Given the description of an element on the screen output the (x, y) to click on. 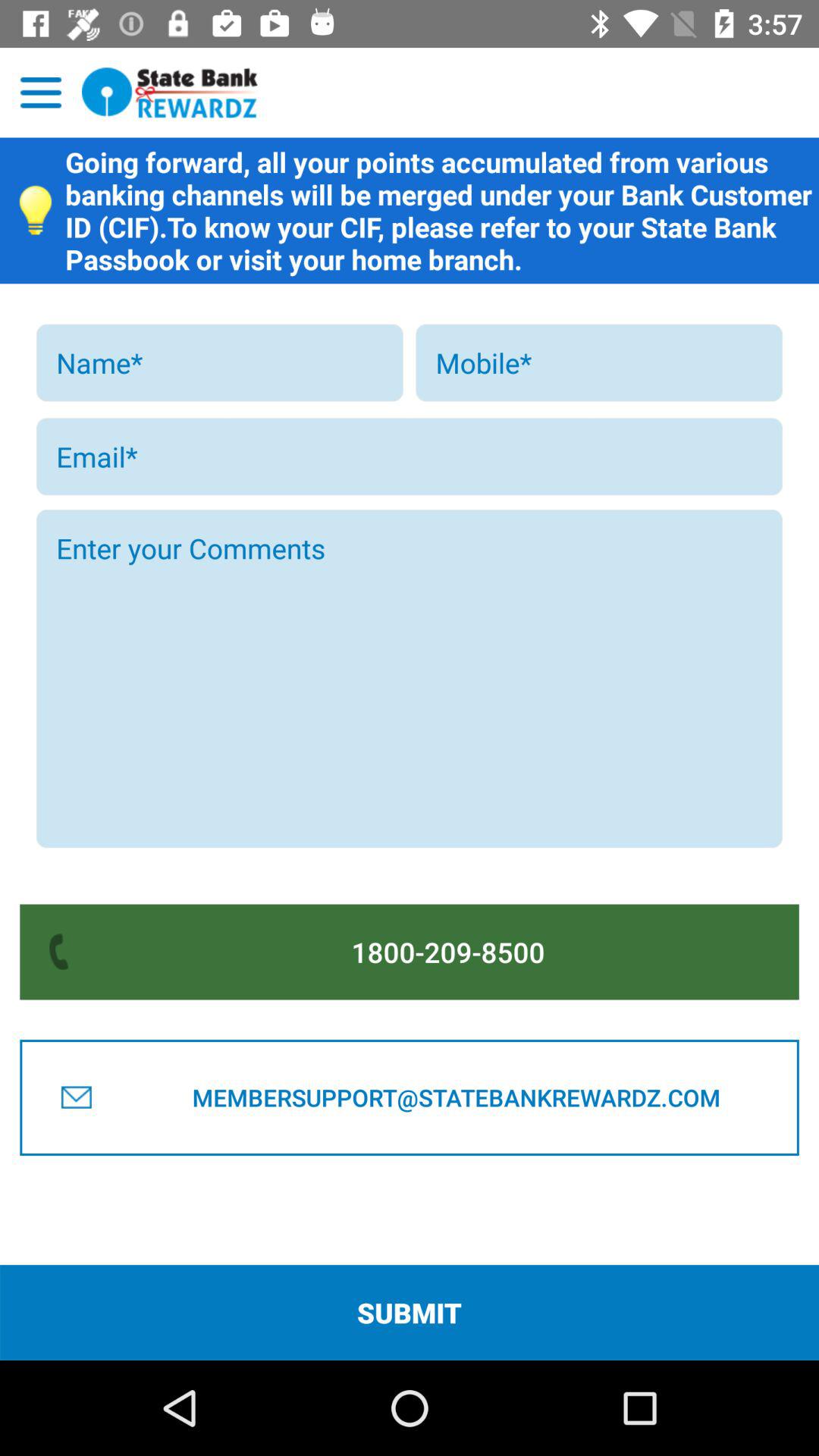
select insert (598, 362)
